Given the description of an element on the screen output the (x, y) to click on. 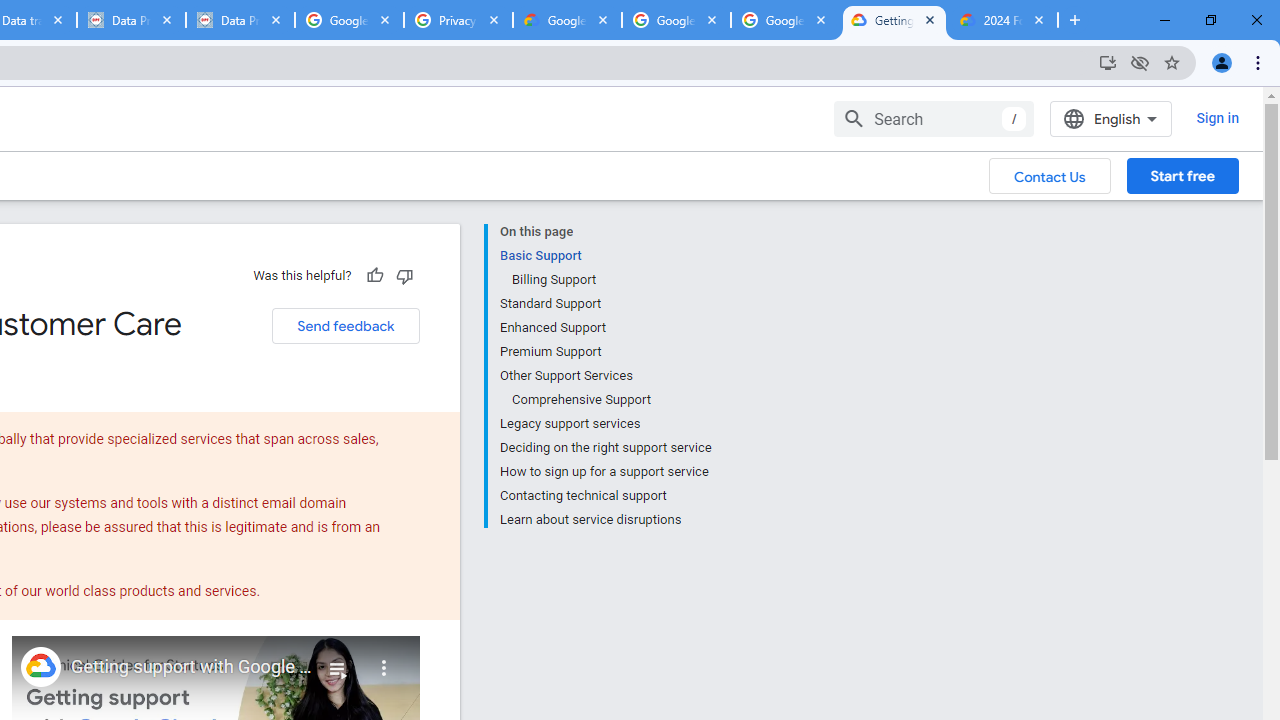
Install Google Cloud (1107, 62)
Photo image of Google Cloud Tech (40, 665)
Data Privacy Framework (240, 20)
More (384, 660)
Send feedback (345, 326)
Google Workspace - Specific Terms (676, 20)
Not helpful (404, 275)
Start free (1182, 175)
Data Privacy Framework (130, 20)
Google Workspace - Specific Terms (784, 20)
Legacy support services (605, 423)
